Given the description of an element on the screen output the (x, y) to click on. 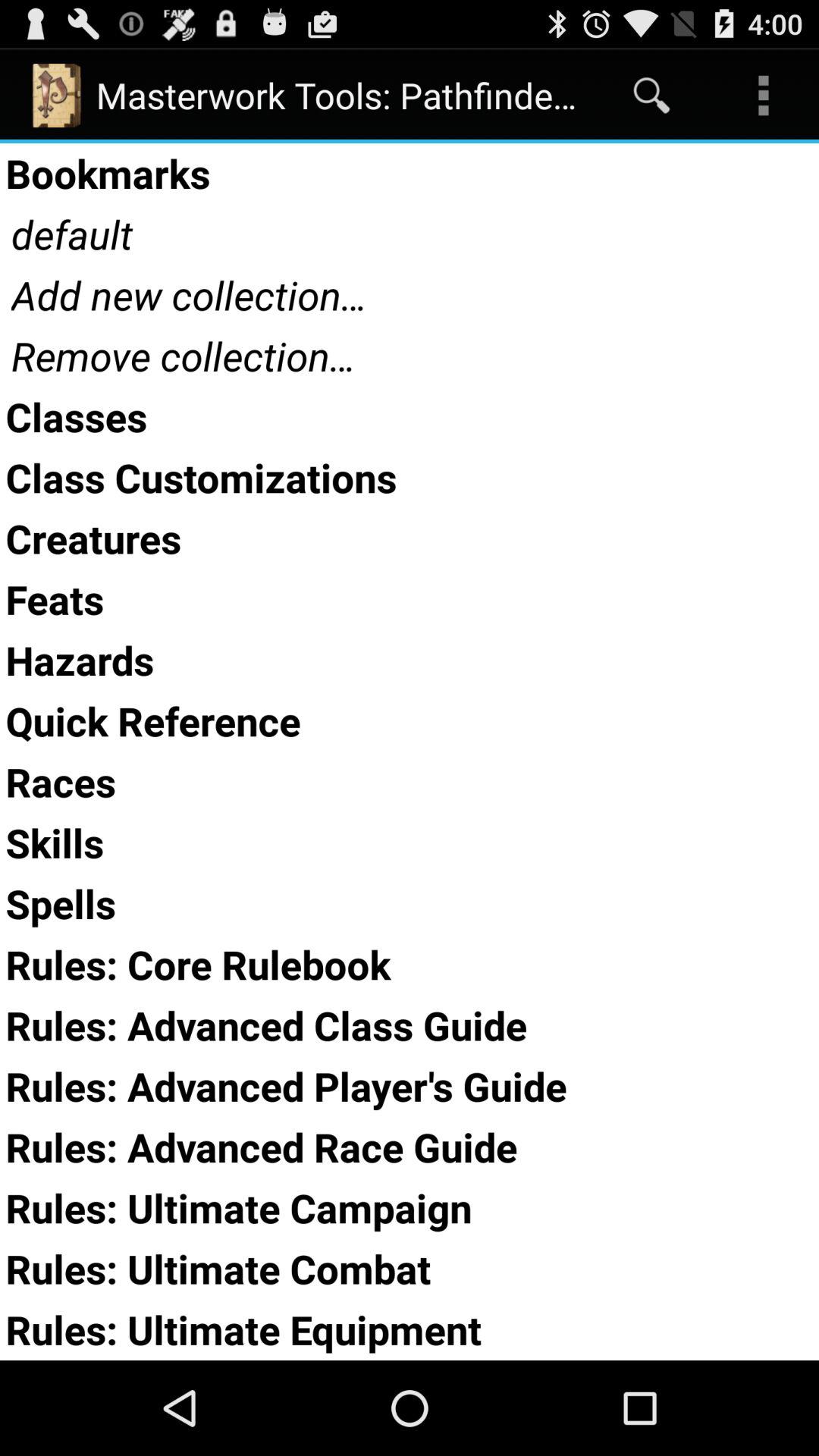
select the app next to masterwork tools pathfinder item (651, 95)
